Given the description of an element on the screen output the (x, y) to click on. 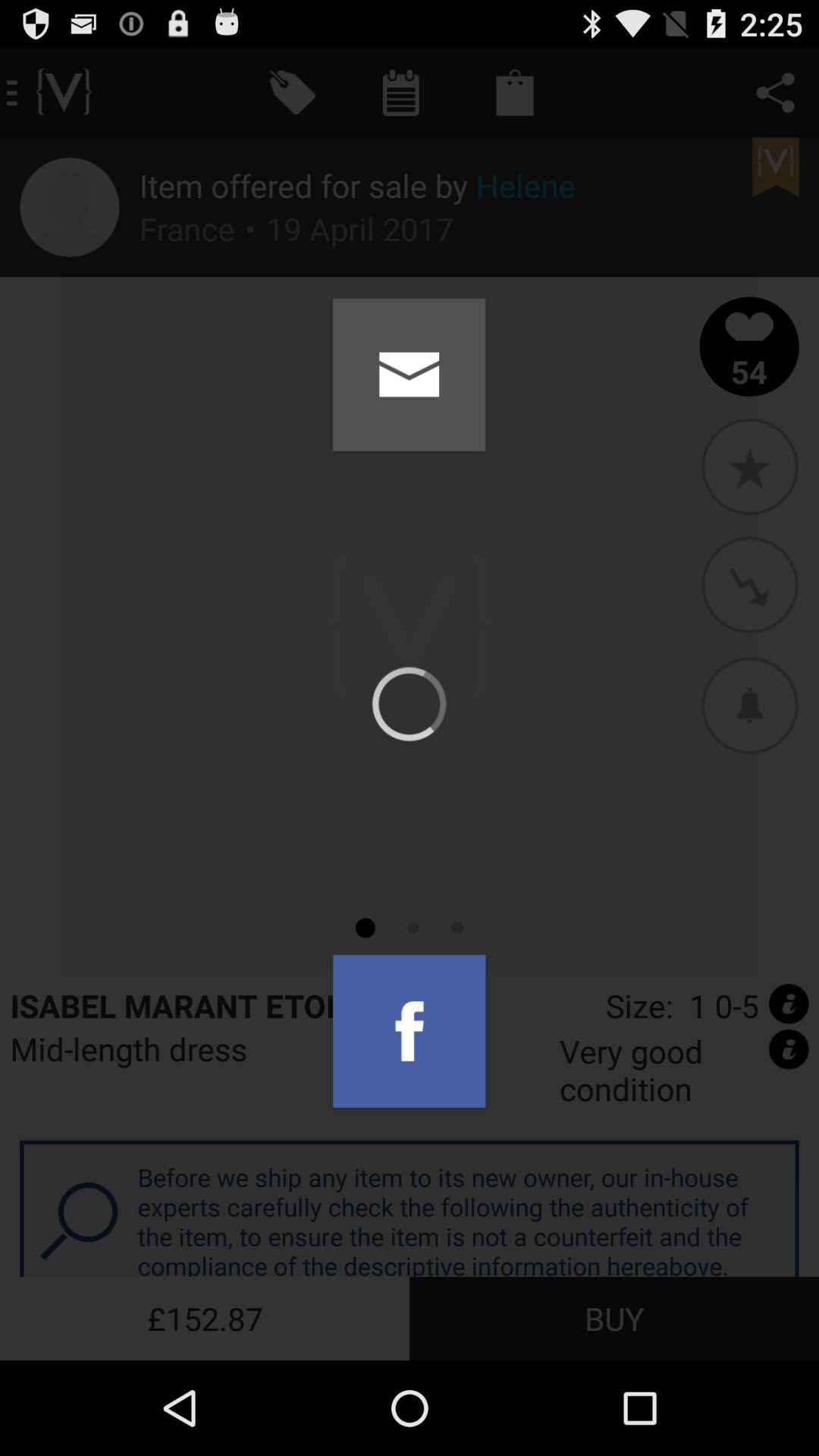
tap the icon below the 54 icon (749, 465)
